Given the description of an element on the screen output the (x, y) to click on. 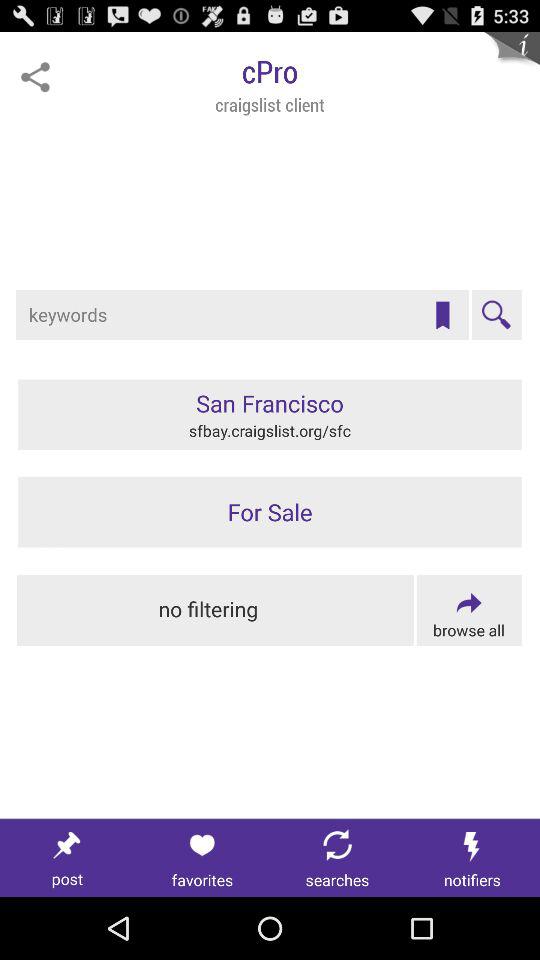
turn on the item below cpro item (496, 315)
